Given the description of an element on the screen output the (x, y) to click on. 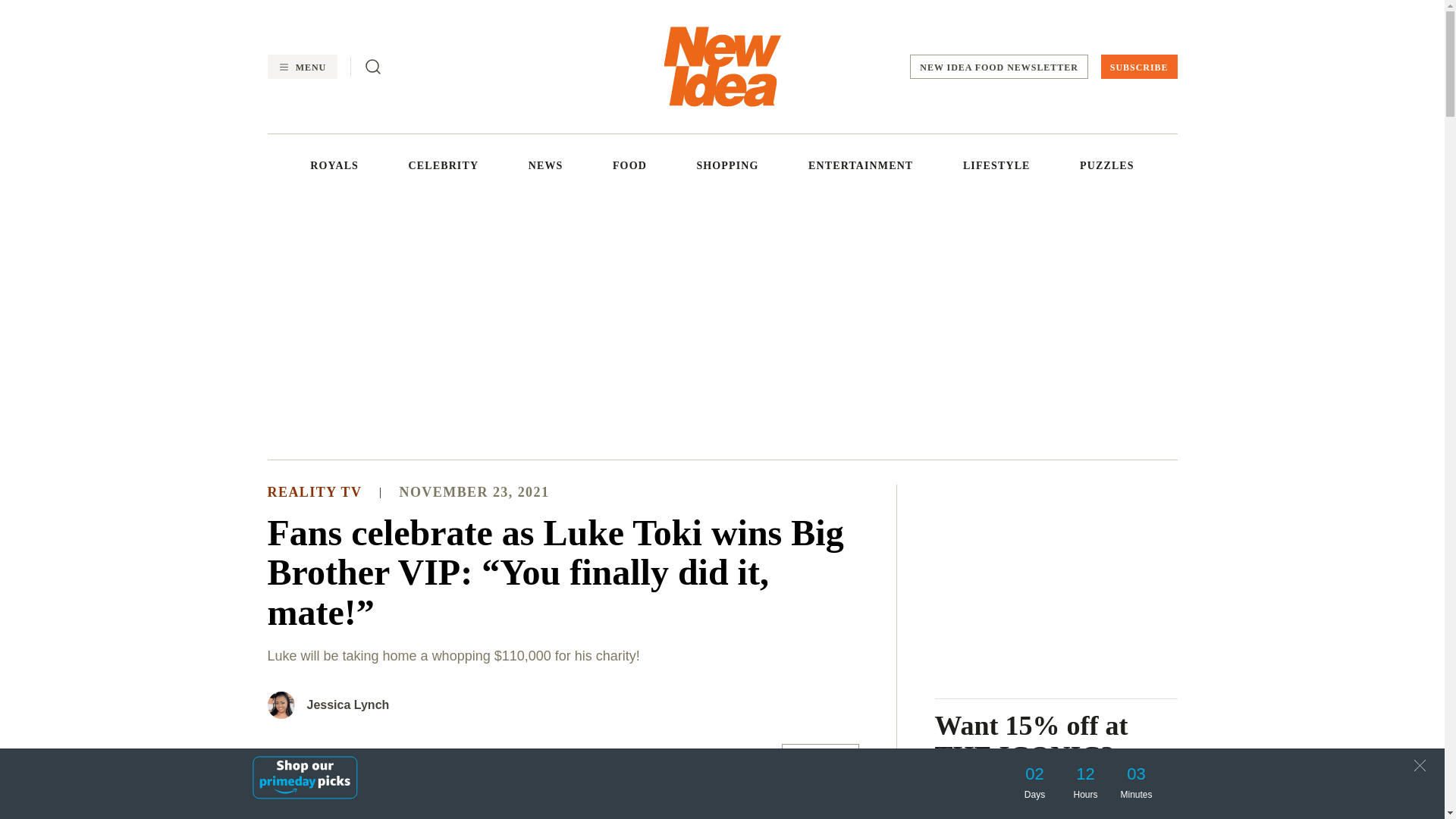
CELEBRITY (444, 165)
ROYALS (334, 165)
PUZZLES (1107, 165)
MENU (301, 66)
NEWS (545, 165)
3rd party ad content (721, 325)
3rd party ad content (1055, 579)
SHOPPING (726, 165)
LIFESTYLE (996, 165)
ENTERTAINMENT (860, 165)
NEW IDEA FOOD NEWSLETTER (998, 66)
SUBSCRIBE (1138, 66)
FOOD (629, 165)
